Given the description of an element on the screen output the (x, y) to click on. 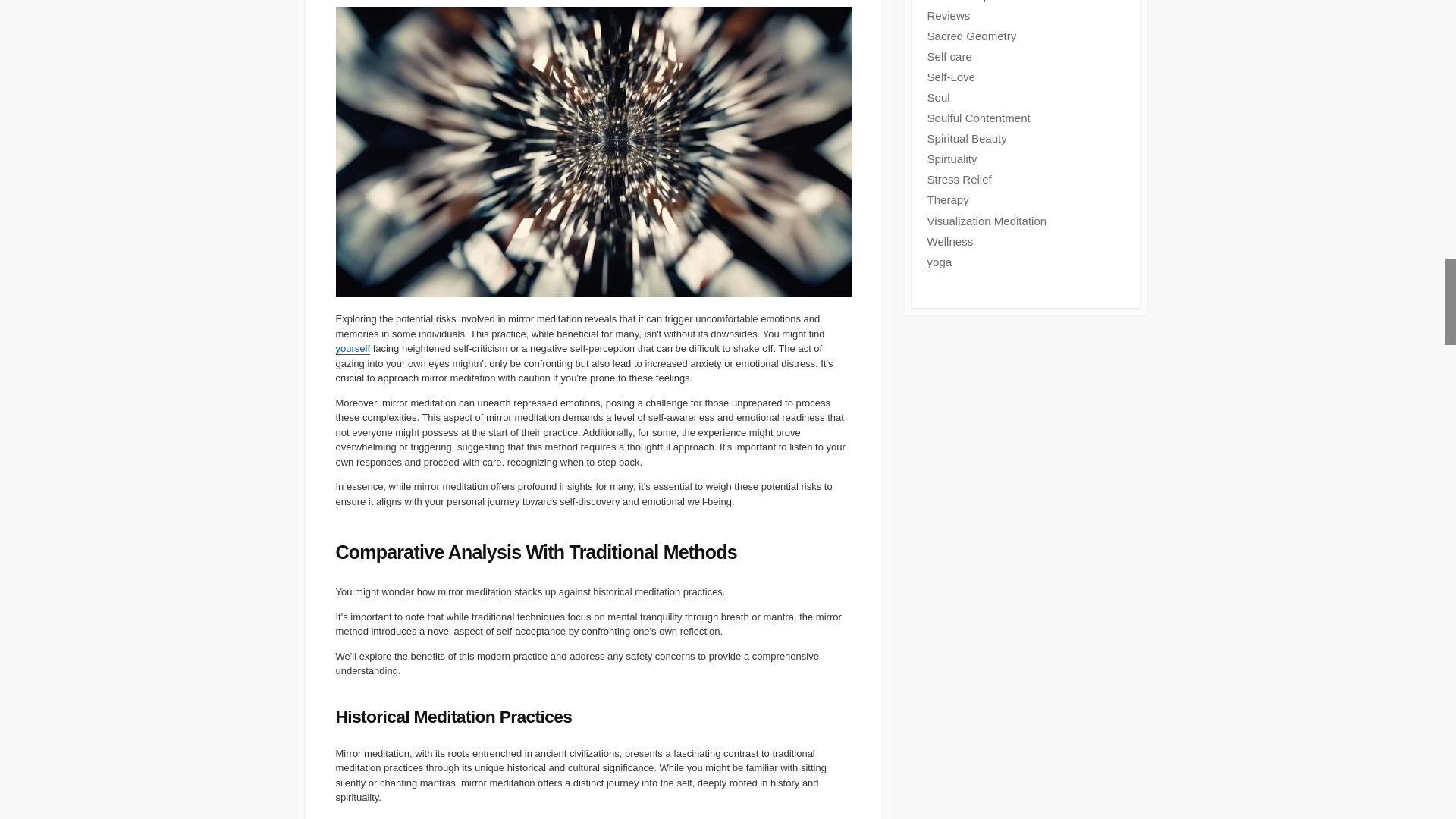
yourself (351, 348)
yourself (351, 348)
